Given the description of an element on the screen output the (x, y) to click on. 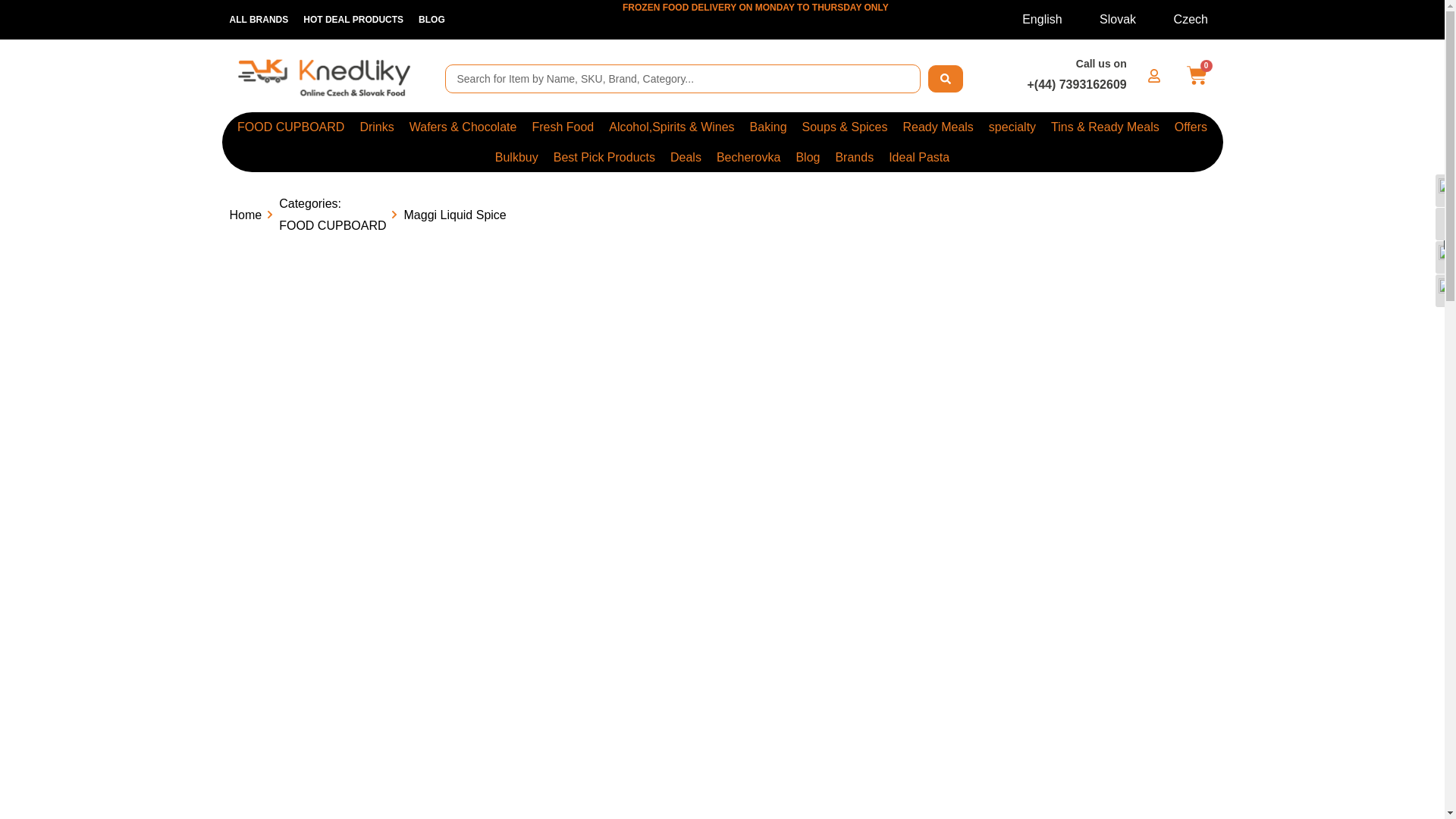
Slovak (1107, 18)
BLOG (431, 19)
ALL BRANDS (258, 19)
Ready Meals (937, 126)
Brands (853, 156)
Deals (685, 156)
Best Pick Products (604, 156)
Blog (807, 156)
FOOD CUPBOARD (291, 126)
English (1031, 18)
